Given the description of an element on the screen output the (x, y) to click on. 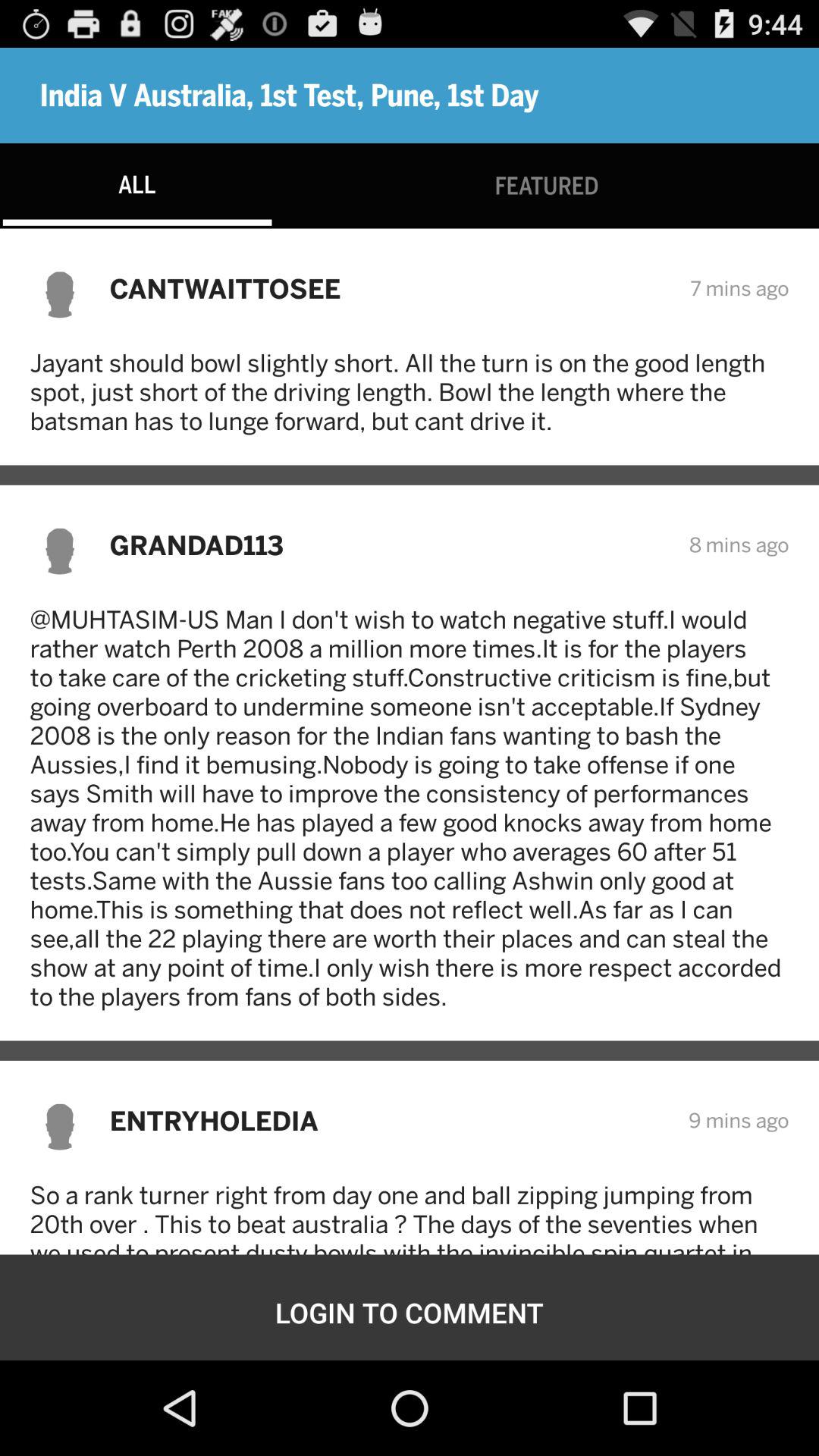
press the item next to the 9 mins ago icon (388, 1120)
